Given the description of an element on the screen output the (x, y) to click on. 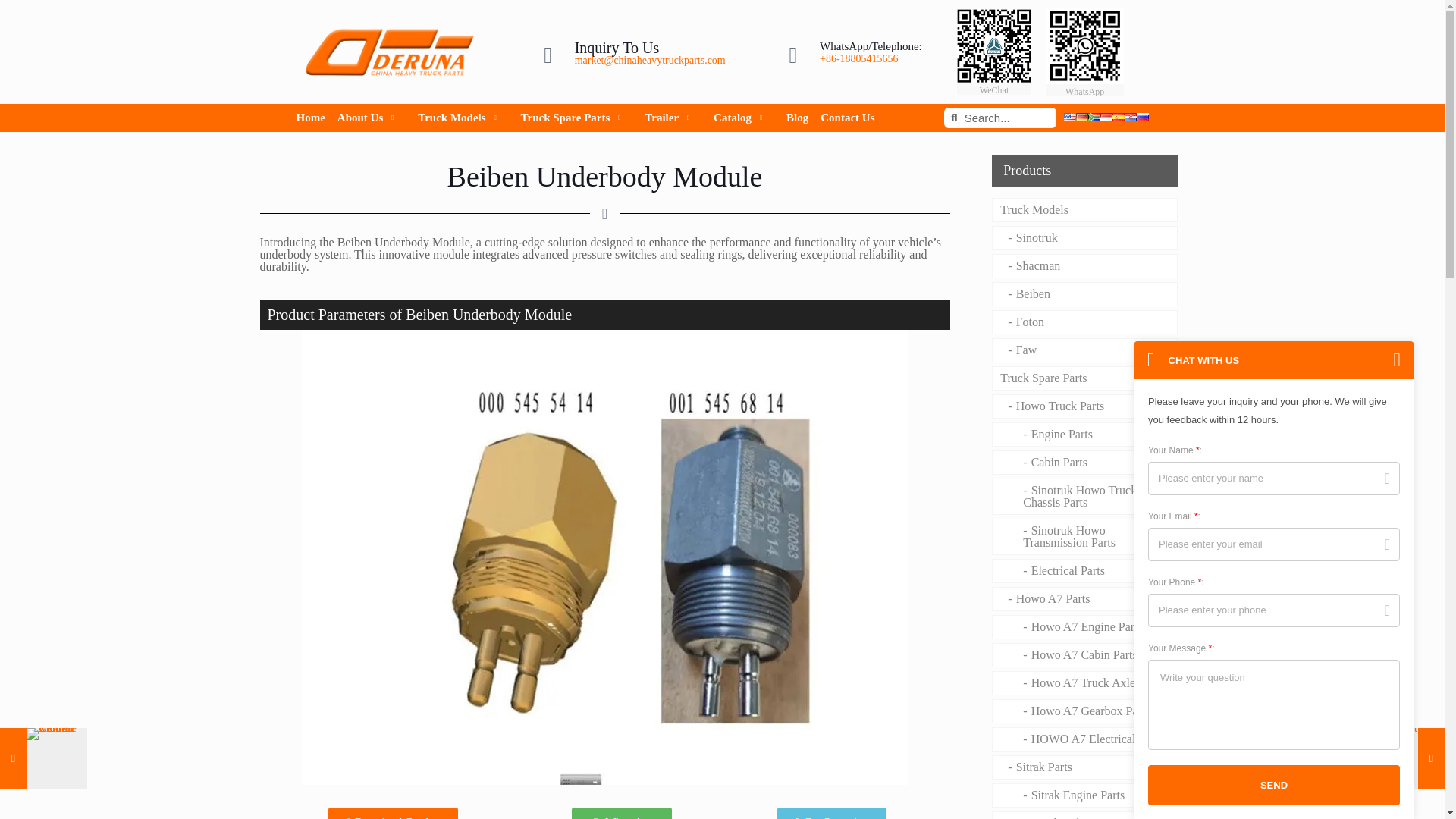
Hrvatski (1130, 117)
Bahasa Indonesia (1106, 117)
Inquiry To Us (617, 47)
English (1069, 117)
Afrikaans (1093, 117)
Deutsch (1081, 117)
